Given the description of an element on the screen output the (x, y) to click on. 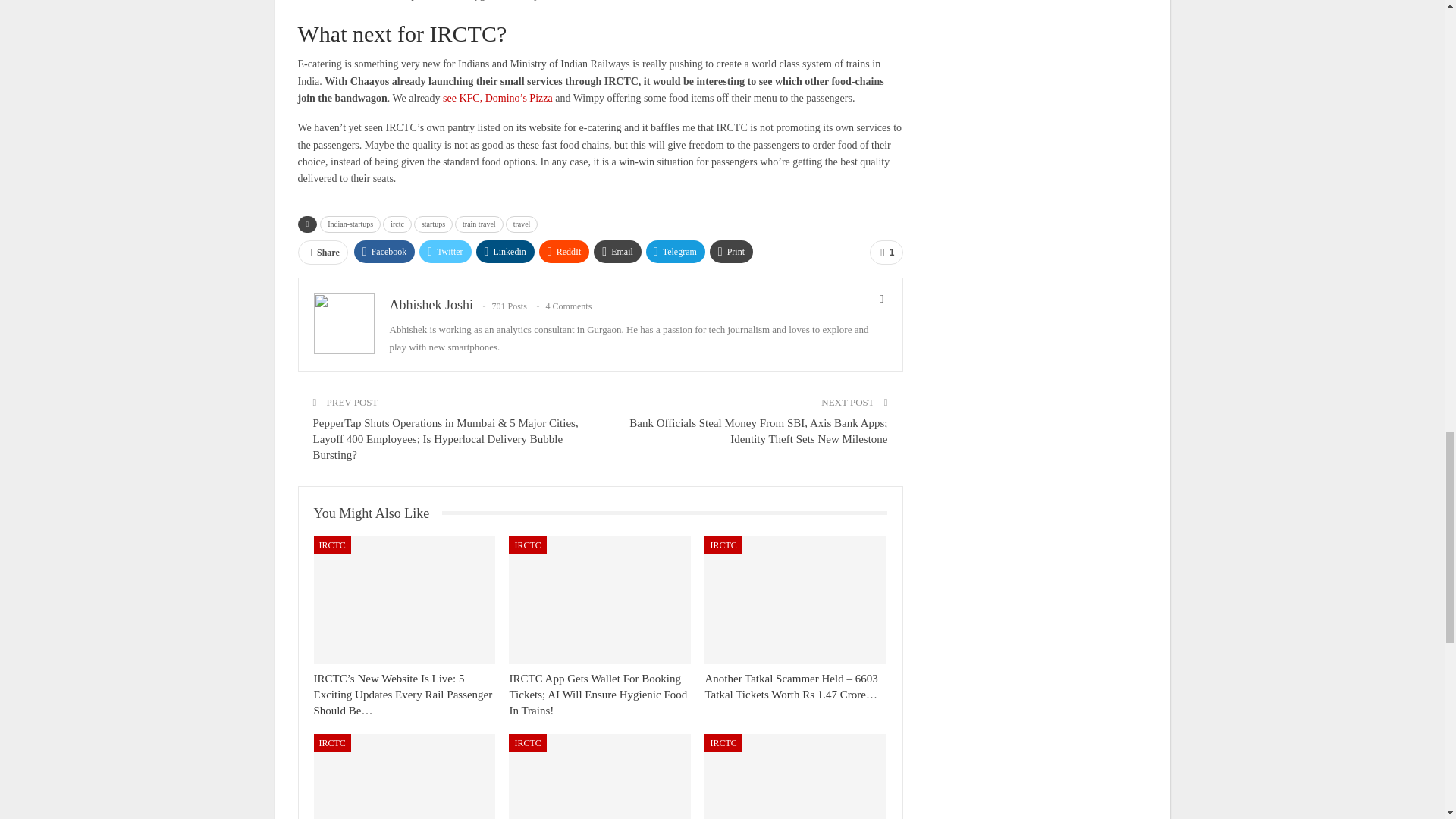
see KFC, (461, 325)
Indian-startups (350, 451)
see KFC, (461, 325)
